Given the description of an element on the screen output the (x, y) to click on. 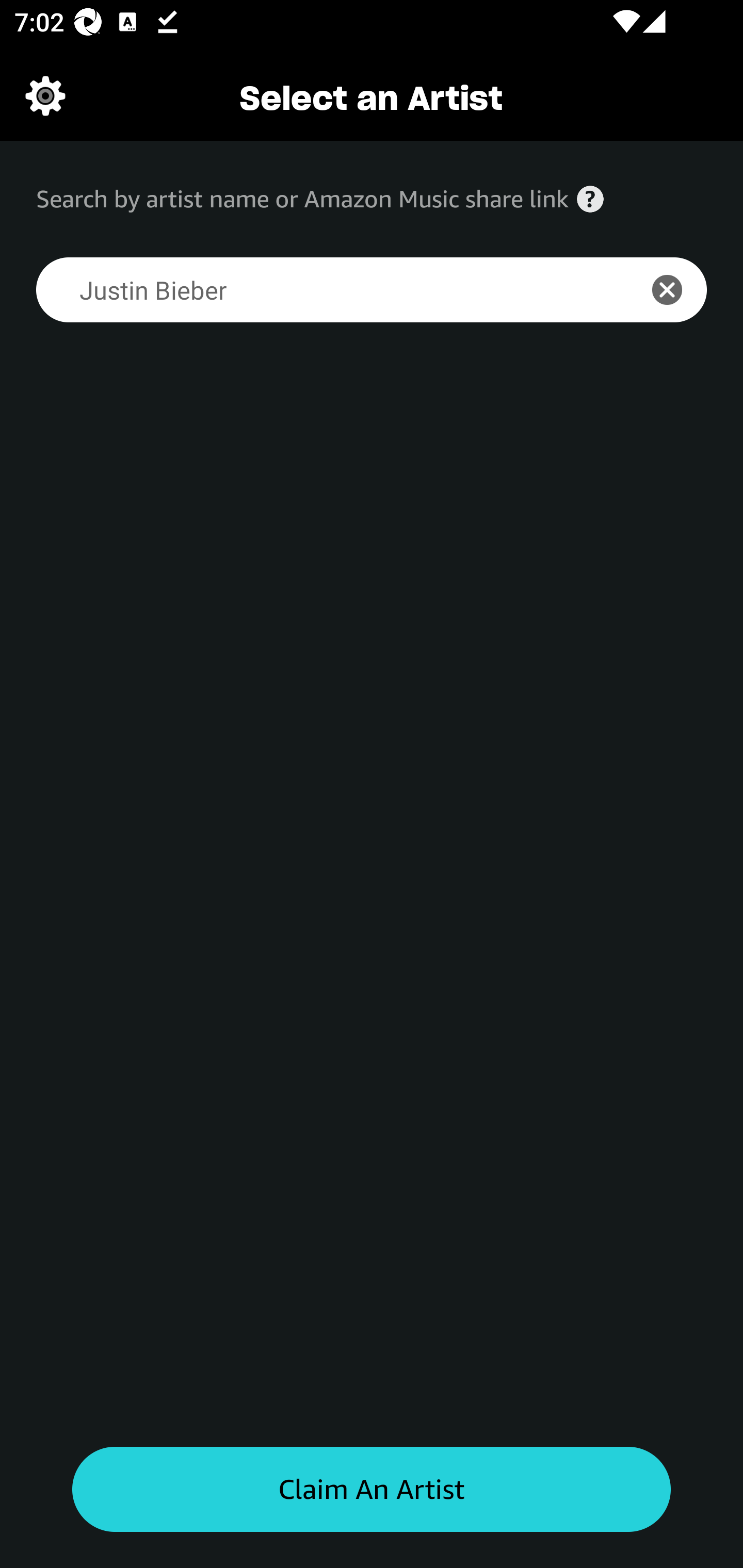
Help  icon (589, 199)
Justin Bieber Search for an artist search bar (324, 290)
 icon (677, 290)
Claim an artist button Claim An Artist (371, 1489)
